Given the description of an element on the screen output the (x, y) to click on. 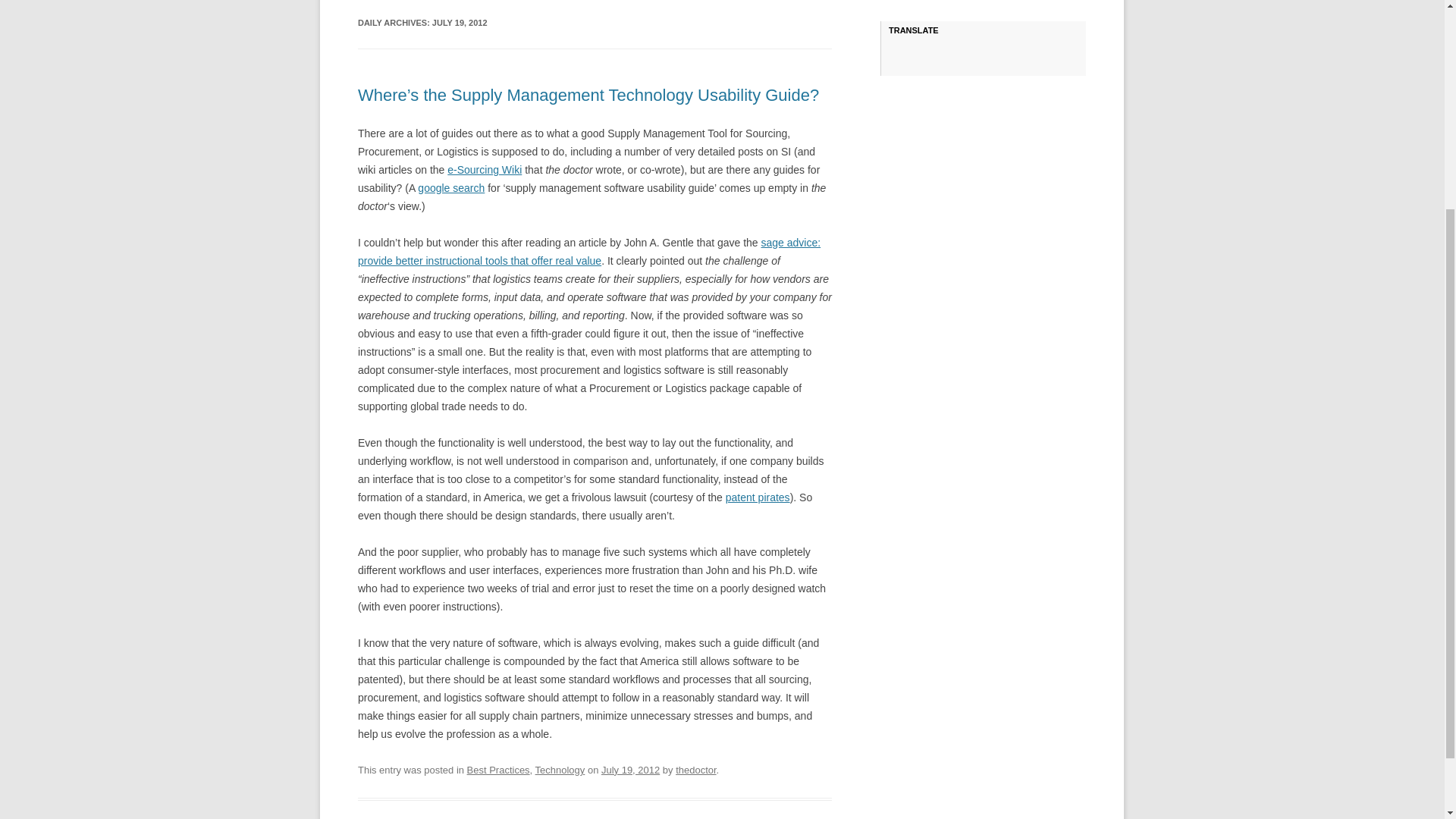
google search (450, 187)
e-Sourcing Wiki (483, 169)
patent pirates (757, 497)
10:05 am (630, 769)
July 19, 2012 (630, 769)
thedoctor (695, 769)
View all posts by thedoctor (695, 769)
Best Practices (498, 769)
Technology (560, 769)
